Given the description of an element on the screen output the (x, y) to click on. 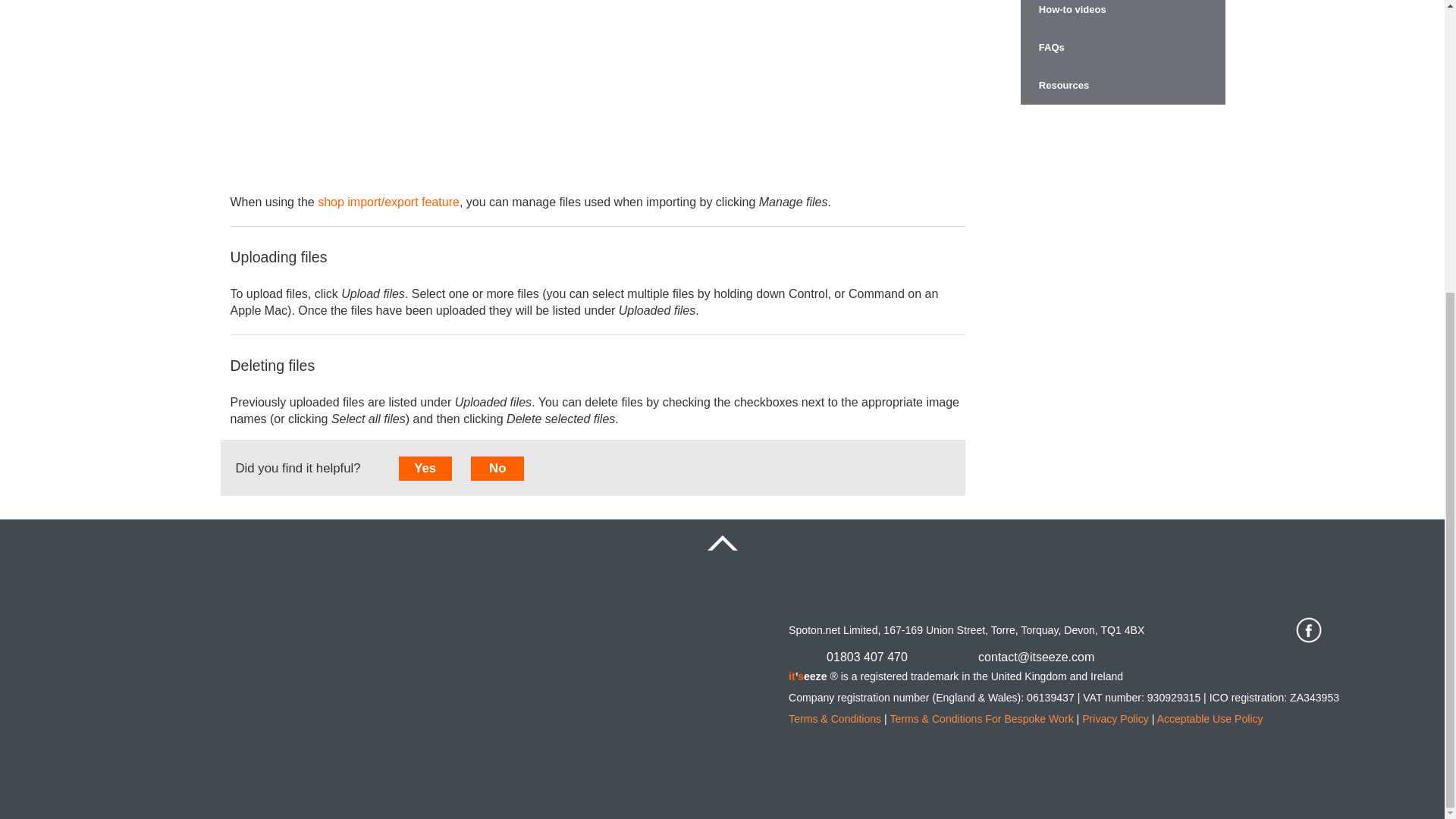
Privacy Policy (1114, 717)
FAQs (1122, 47)
Resources (1122, 85)
How-to videos (1122, 14)
Acceptable Use Policy (1210, 717)
